Given the description of an element on the screen output the (x, y) to click on. 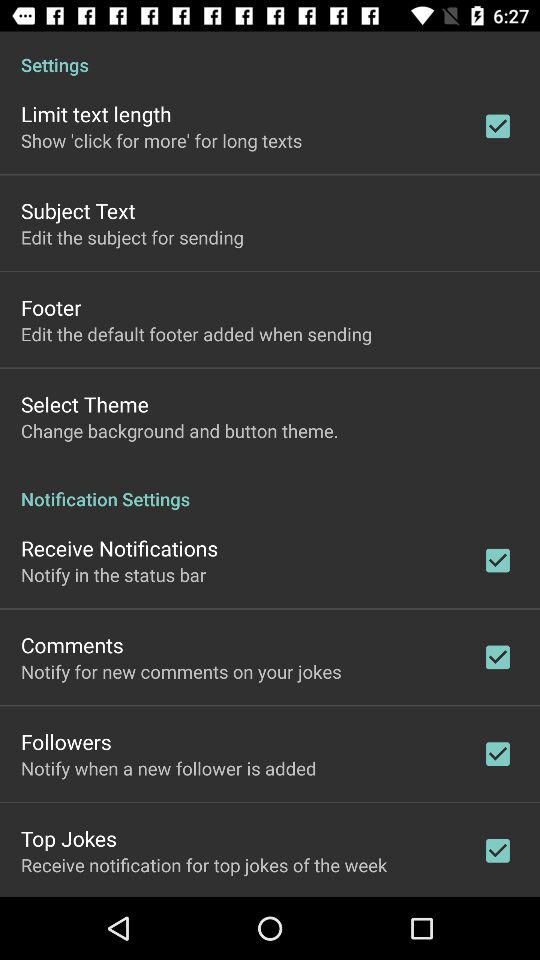
choose item above notify when a item (66, 741)
